Given the description of an element on the screen output the (x, y) to click on. 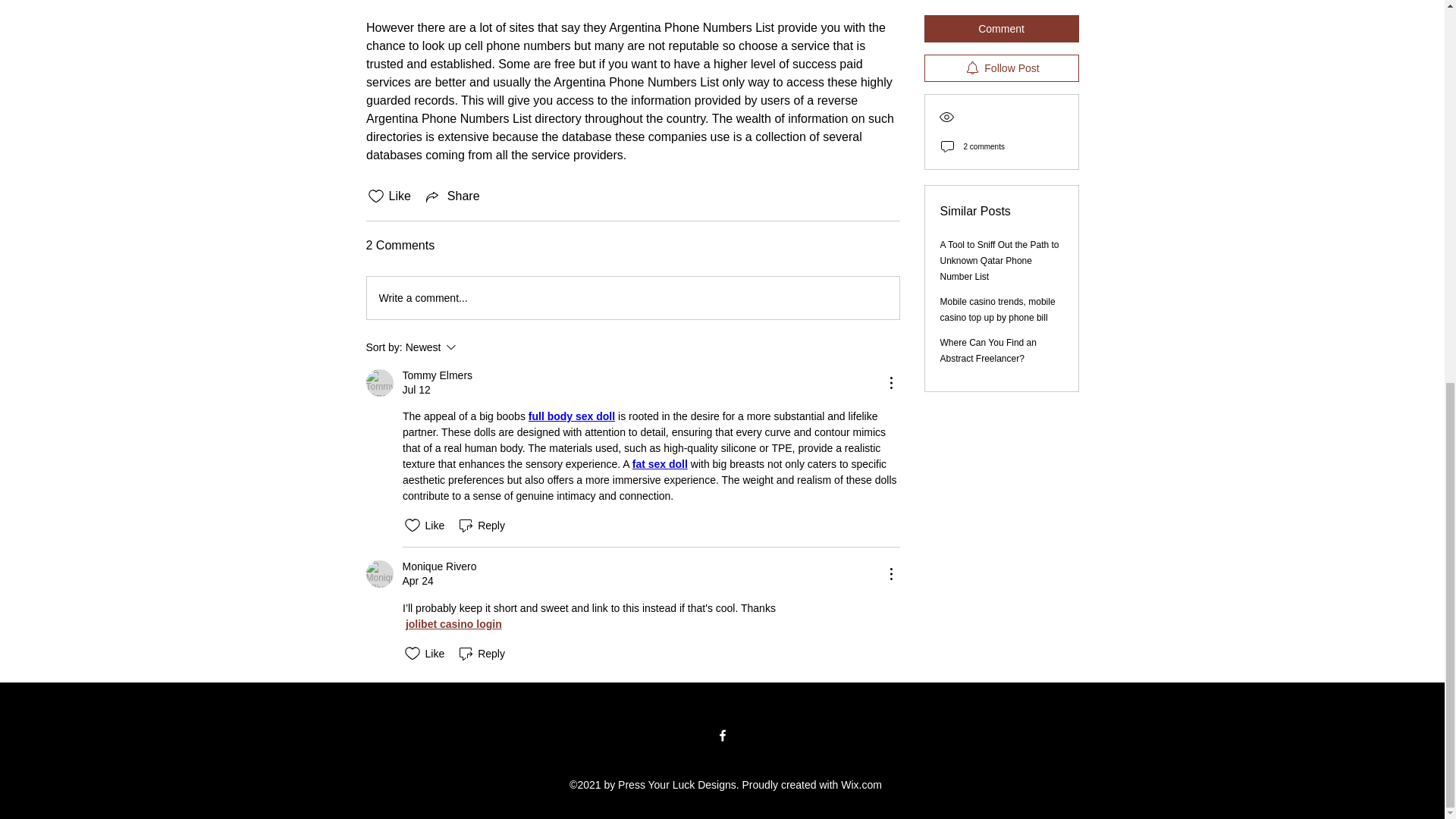
full body sex doll (570, 416)
Reply (481, 653)
fat sex doll (659, 463)
Tommy Elmers (436, 375)
Share (451, 196)
Reply (481, 525)
Monique Rivero (471, 347)
Tommy Elmers (379, 574)
jolibet casino login (379, 382)
Monique Rivero (452, 623)
Write a comment... (438, 566)
